Given the description of an element on the screen output the (x, y) to click on. 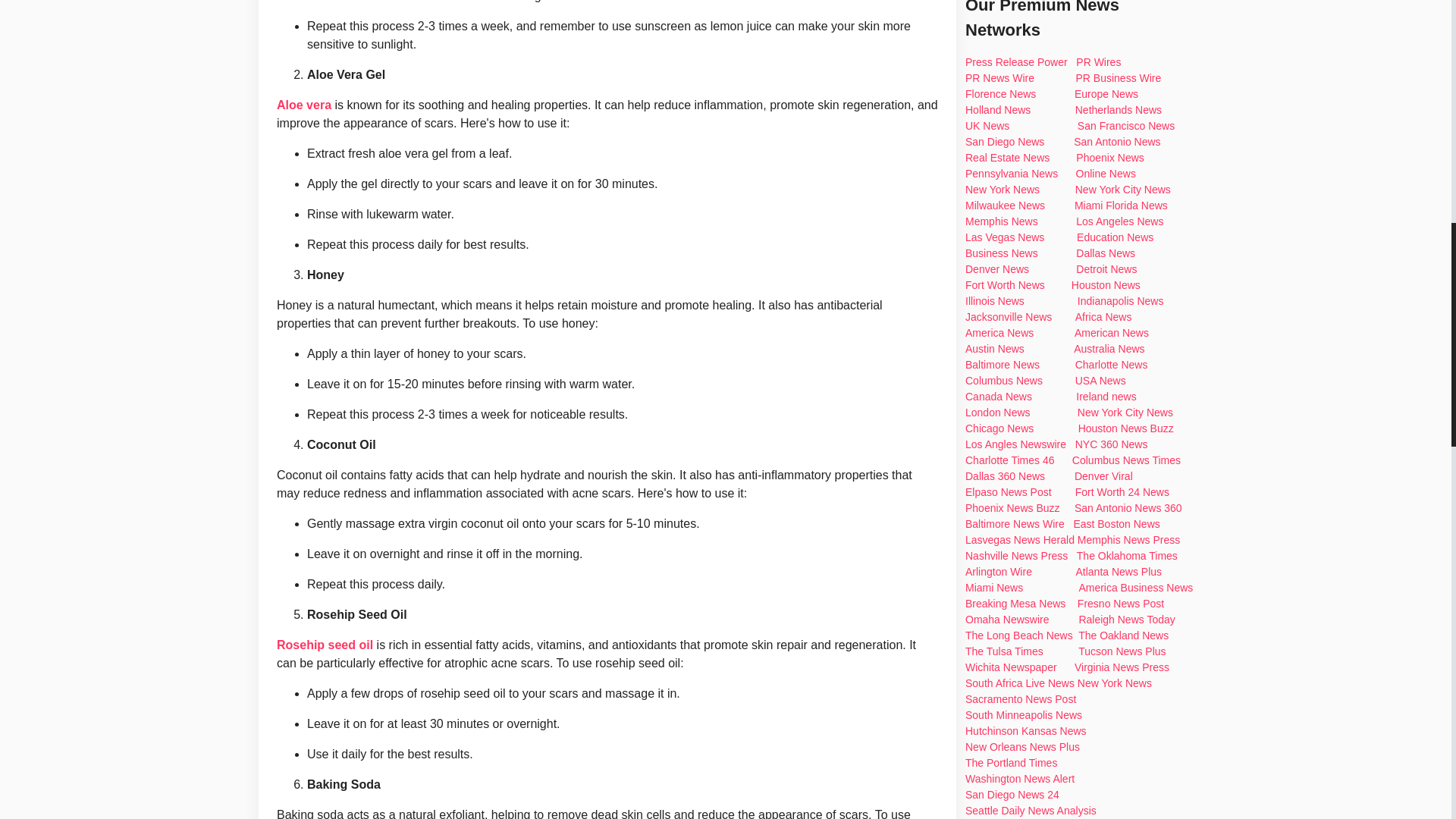
Rosehip seed oil (324, 644)
Aloe vera (303, 104)
